Given the description of an element on the screen output the (x, y) to click on. 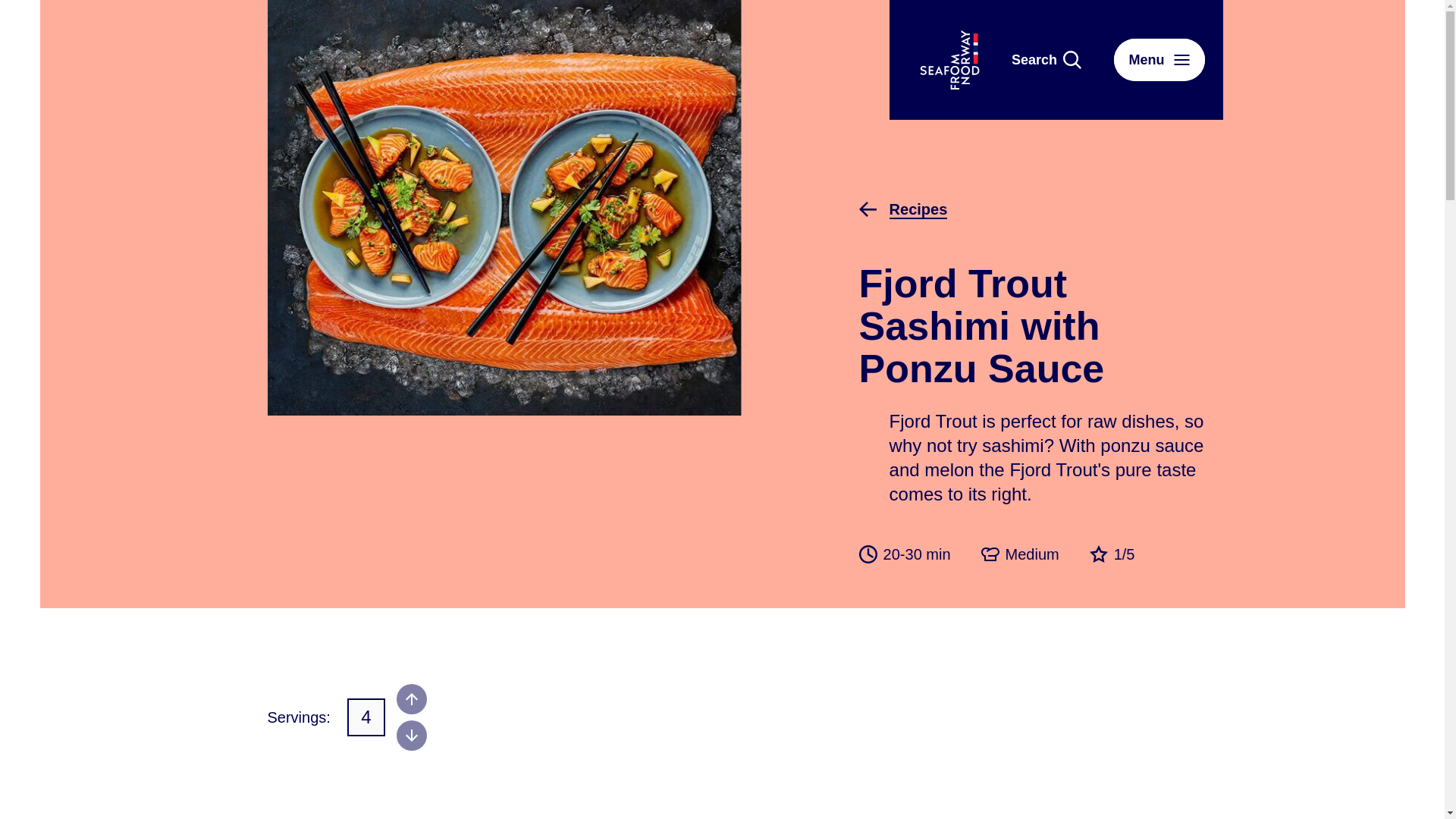
4 (366, 717)
Menu (1158, 59)
Search (1046, 59)
Recipes (900, 208)
